Given the description of an element on the screen output the (x, y) to click on. 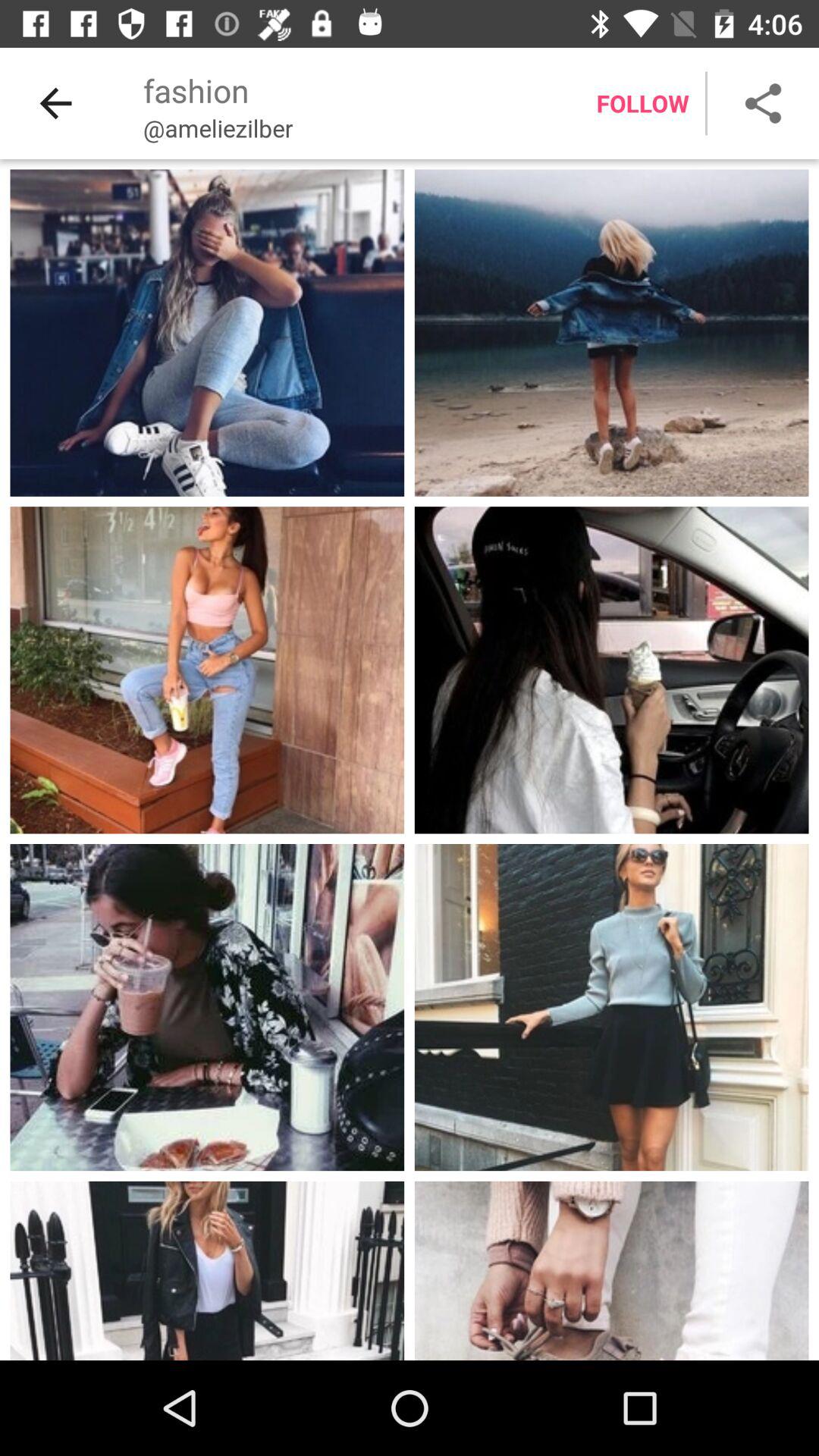
jump to follow (642, 103)
